Given the description of an element on the screen output the (x, y) to click on. 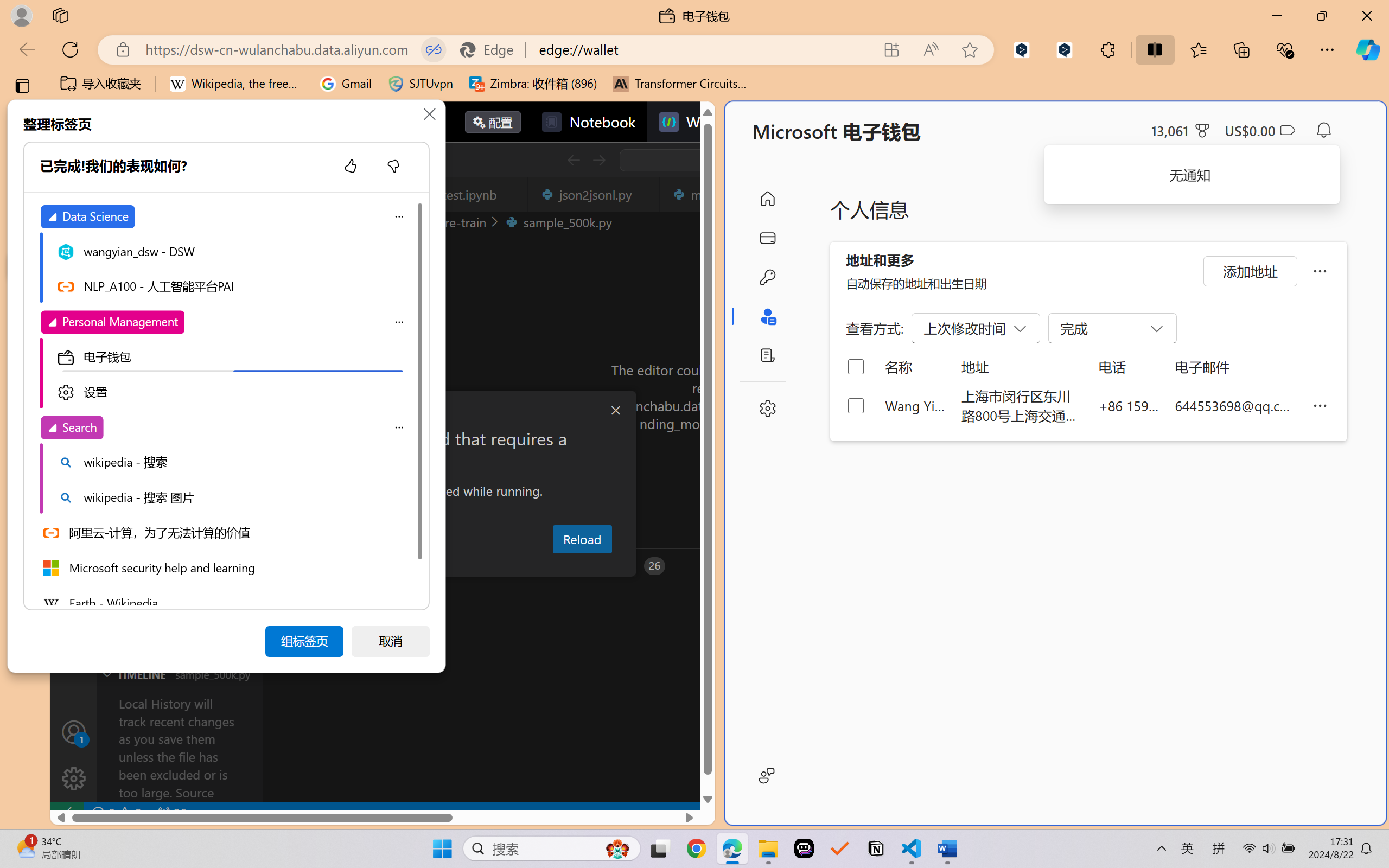
Class: ___1lmltc5 f1agt3bx f12qytpq (1286, 130)
Microsoft security help and learning (223, 567)
